Given the description of an element on the screen output the (x, y) to click on. 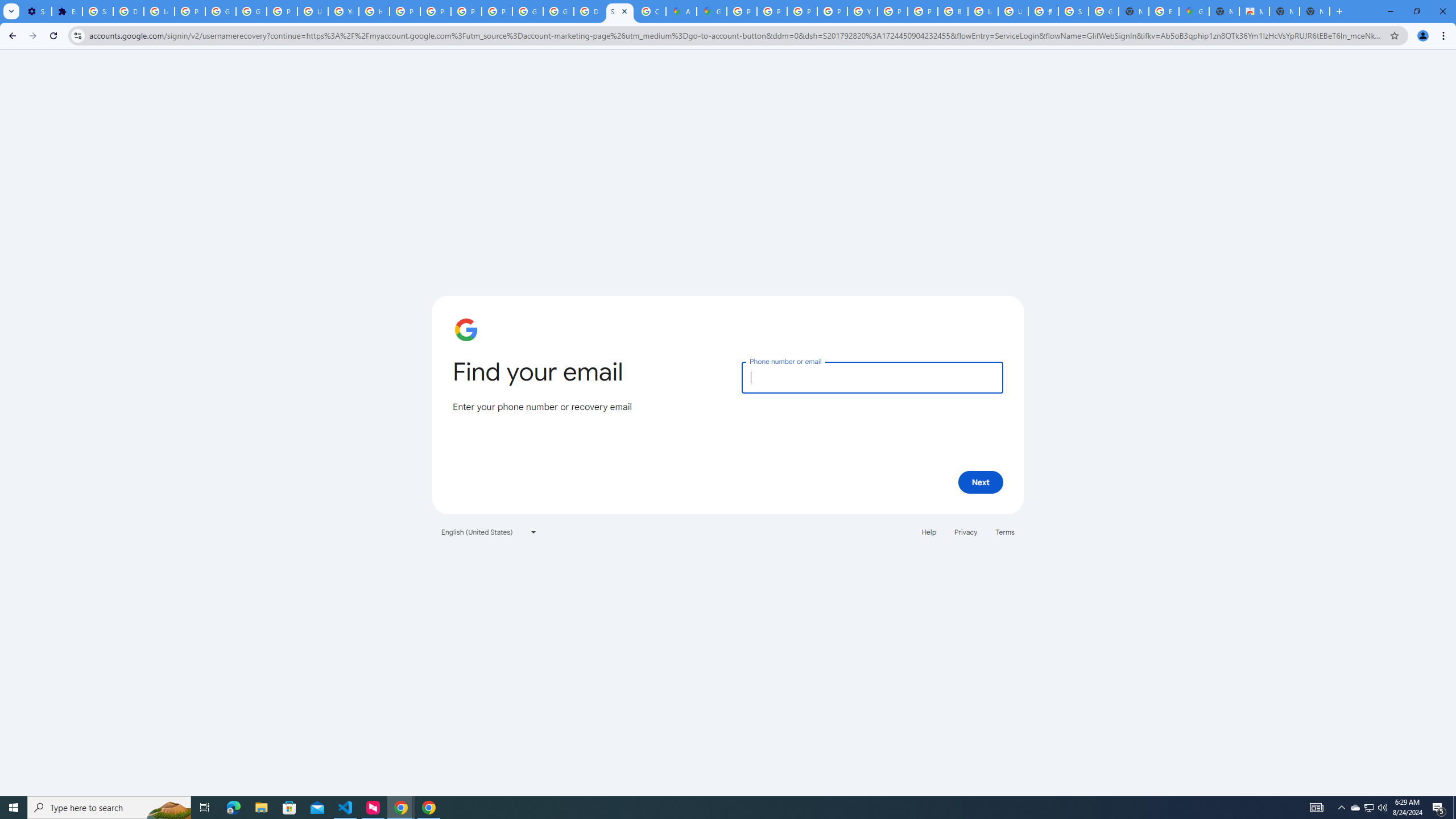
Delete photos & videos - Computer - Google Photos Help (127, 11)
